Given the description of an element on the screen output the (x, y) to click on. 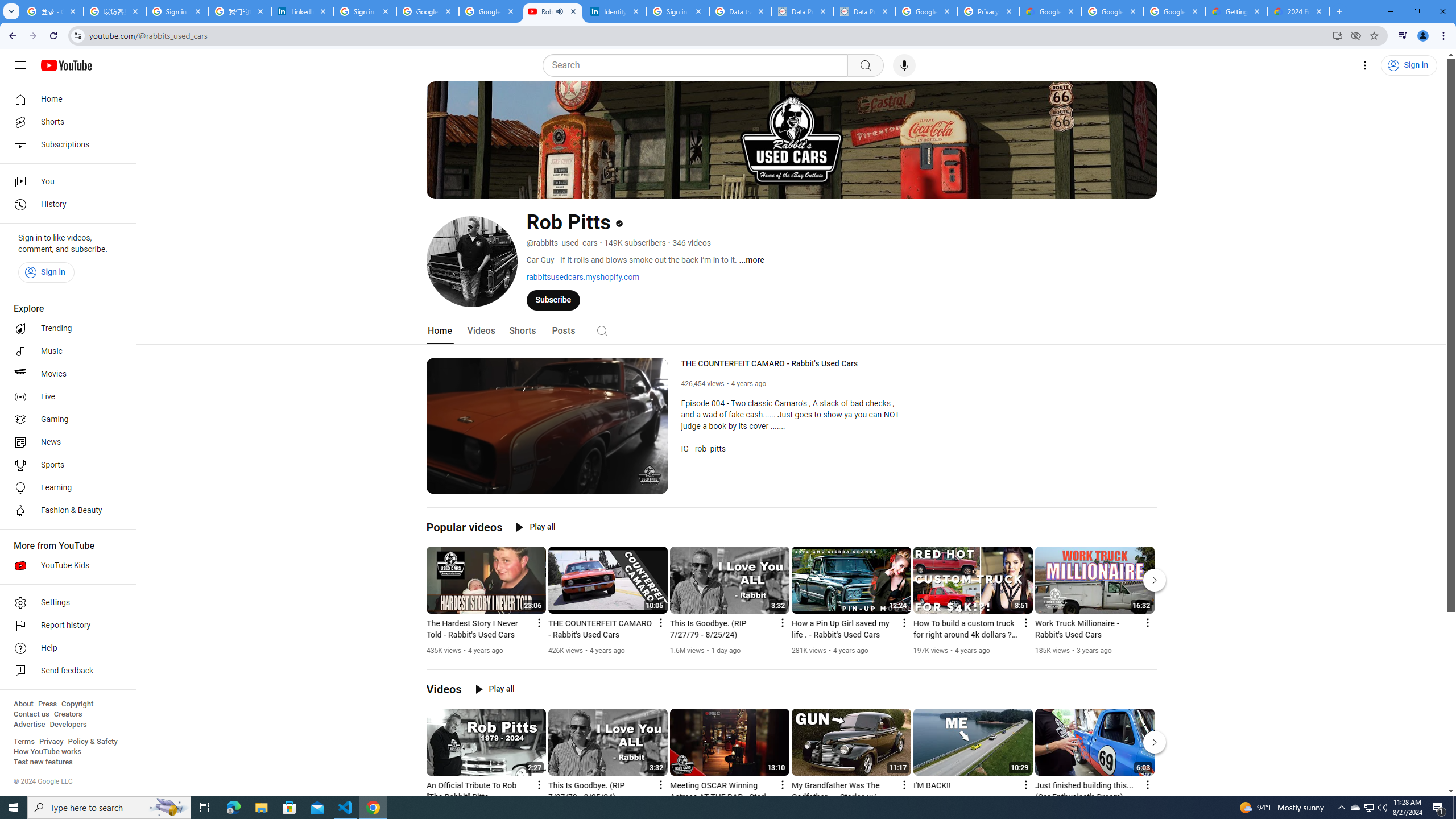
Pause (k) (443, 483)
Search with your voice (903, 65)
Creators (67, 714)
Advertise (29, 724)
